Given the description of an element on the screen output the (x, y) to click on. 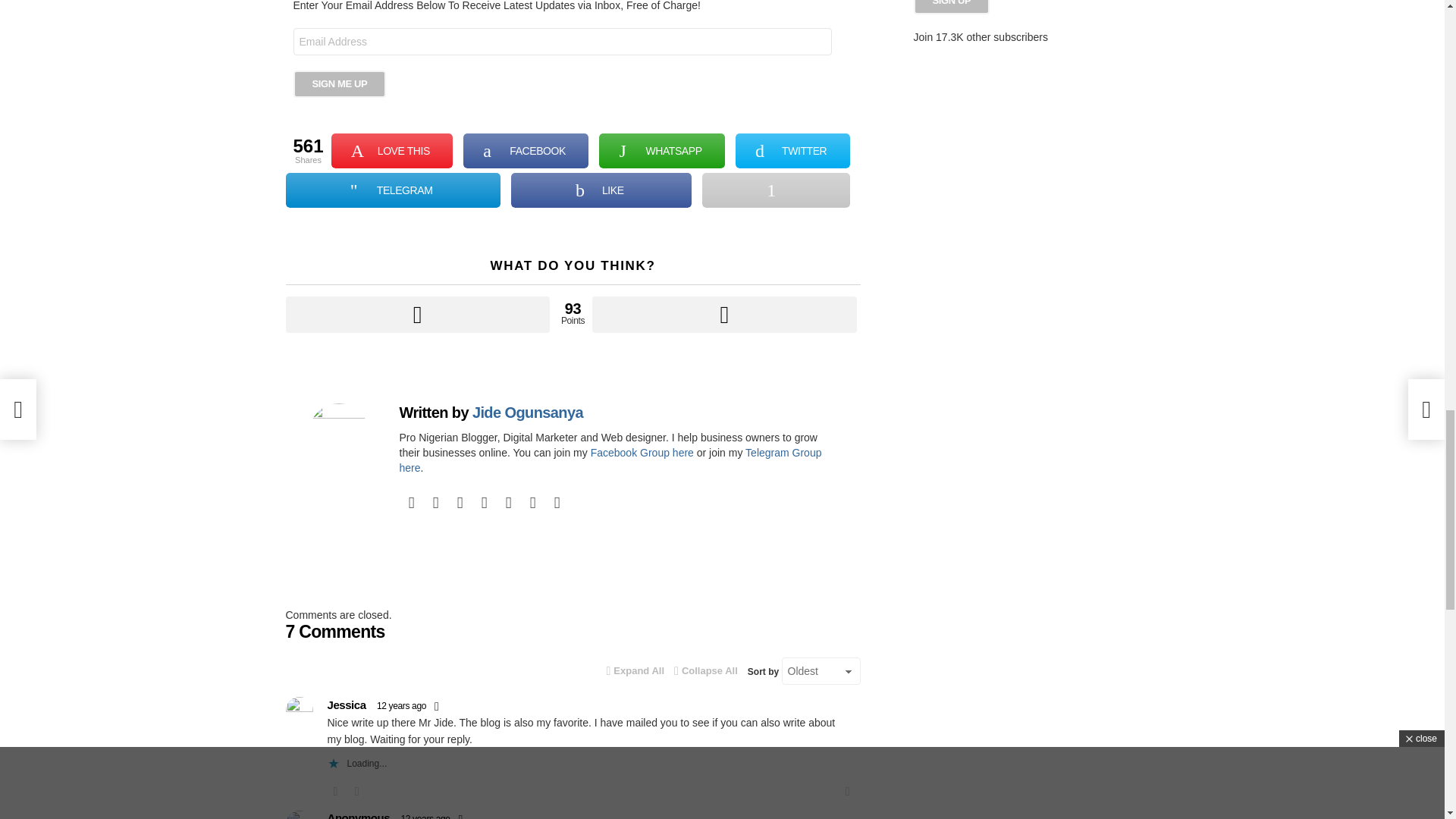
Share on Love This (391, 150)
